Given the description of an element on the screen output the (x, y) to click on. 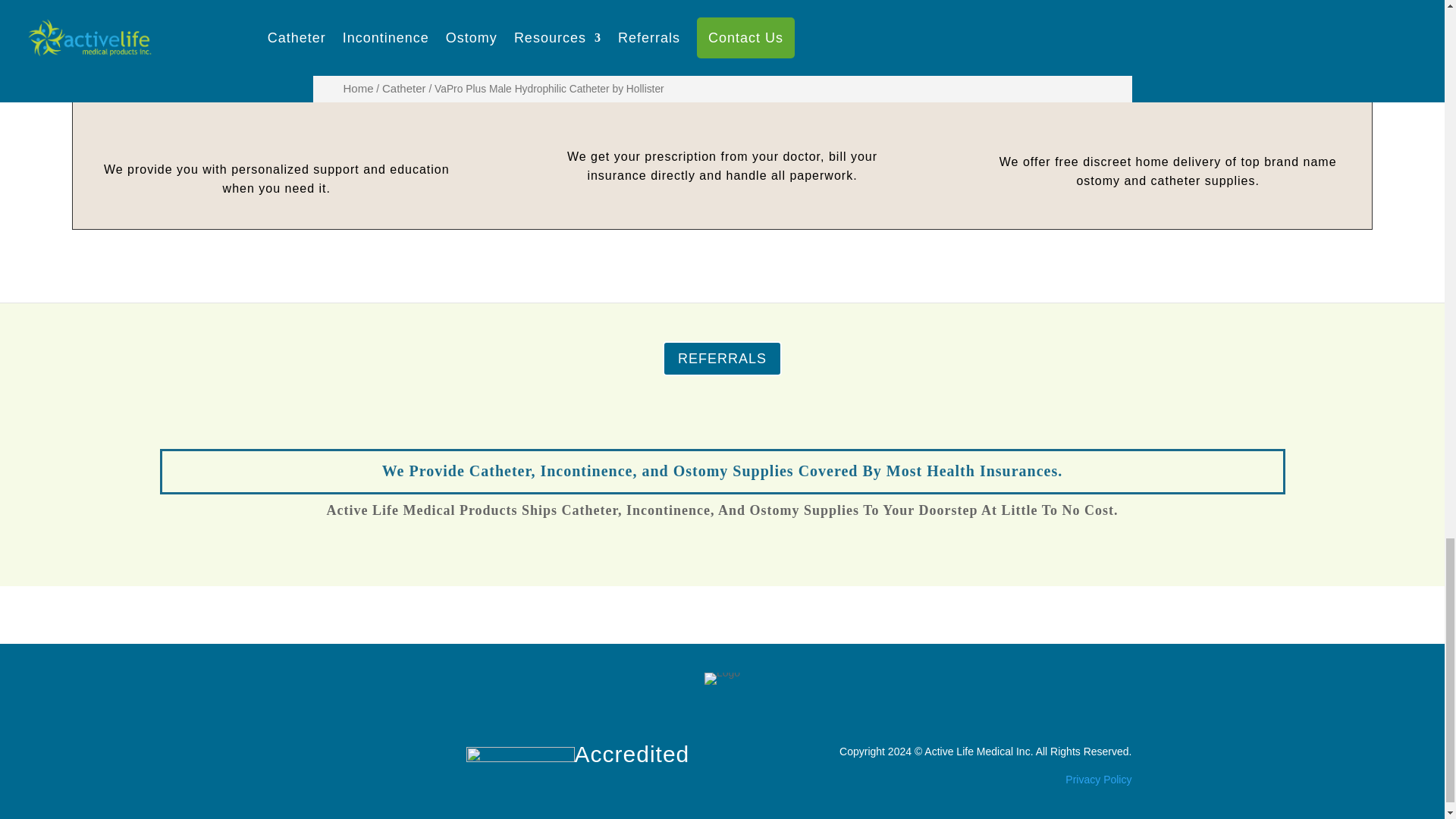
Active Life Medical Inc (976, 750)
icon-checklist transparent (721, 80)
REFERRALS (721, 358)
Privacy Policy (1098, 779)
icon-headset transparent (277, 92)
icon-package transparent (1168, 84)
LogoFooter (721, 678)
